Given the description of an element on the screen output the (x, y) to click on. 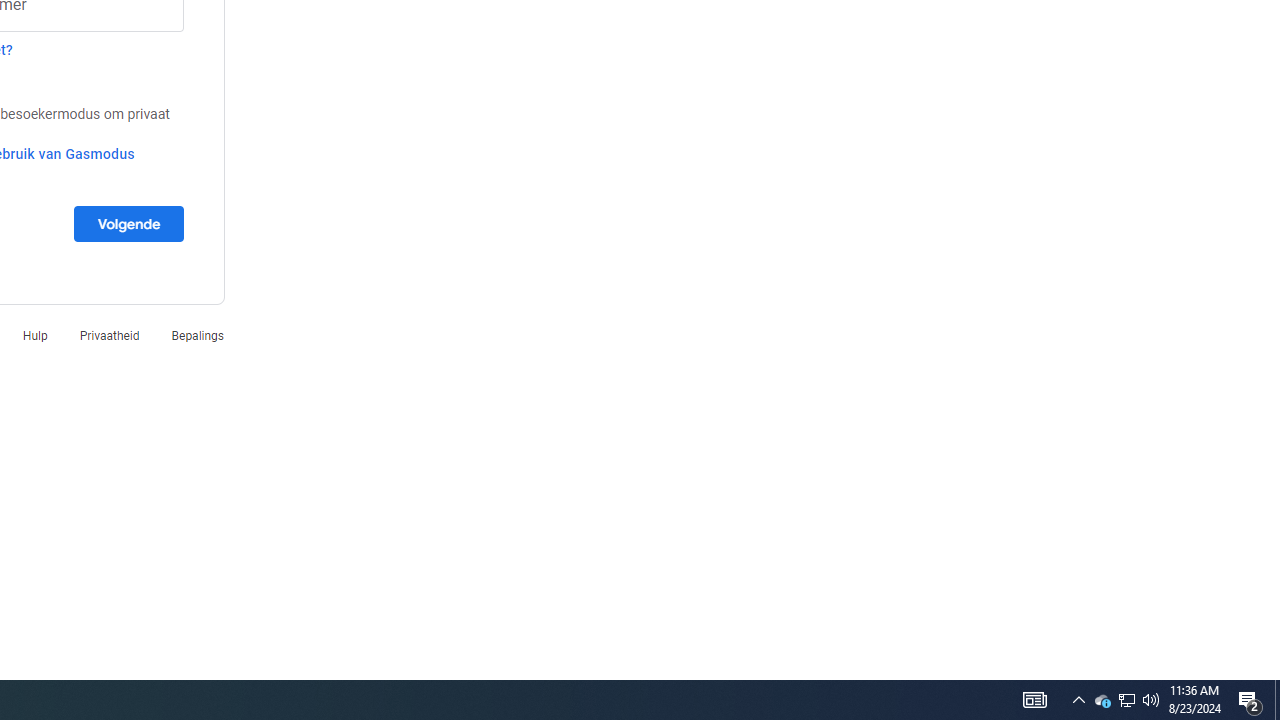
Hulp (35, 335)
Volgende (128, 223)
Bepalings (197, 335)
Privaatheid (109, 335)
